Given the description of an element on the screen output the (x, y) to click on. 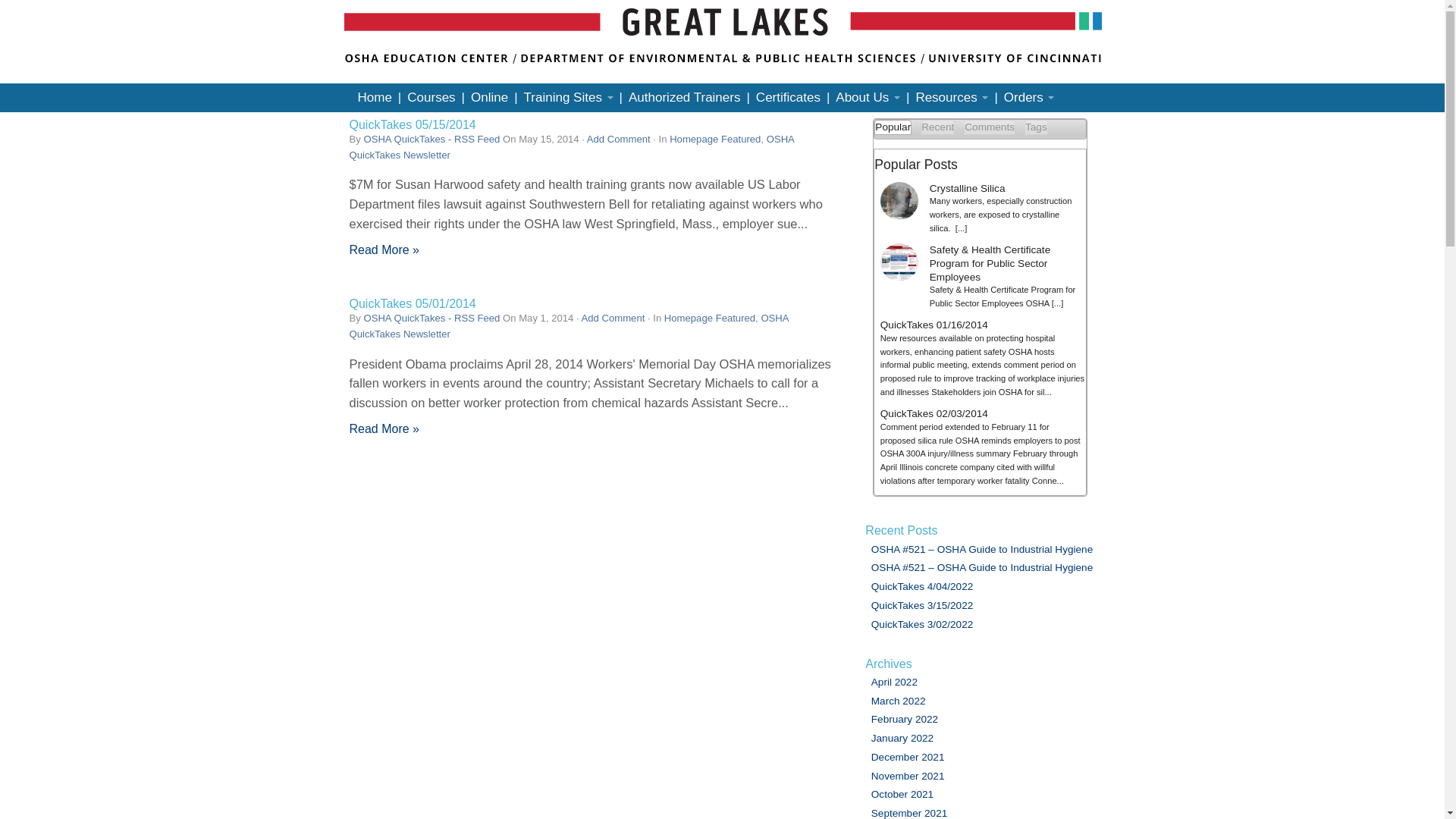
Posts by OSHA QuickTakes - RSS Feed (430, 138)
Posts by OSHA QuickTakes - RSS Feed (430, 317)
